Given the description of an element on the screen output the (x, y) to click on. 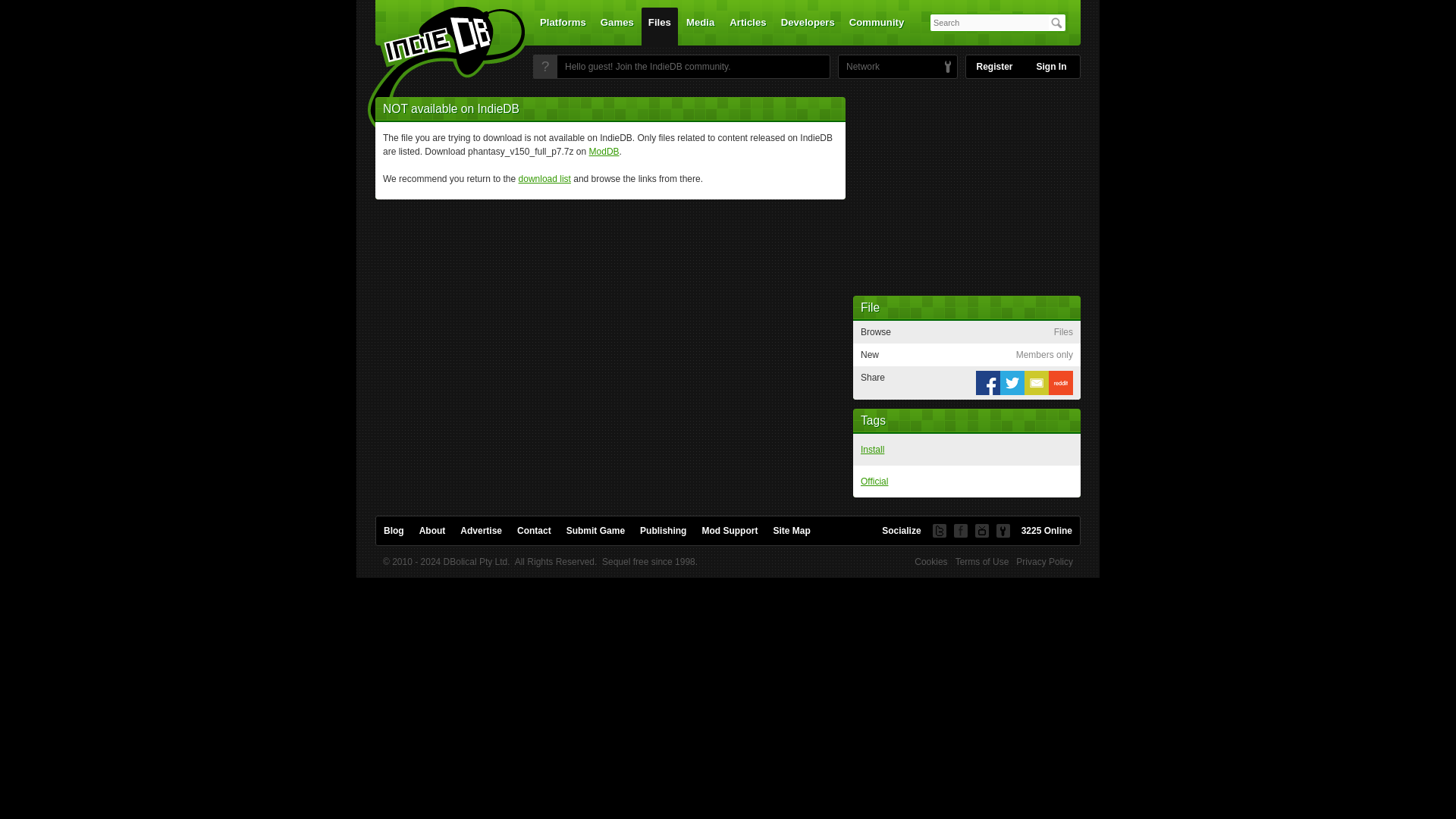
1 agree (1052, 480)
Email a friend (1036, 382)
Platforms (562, 26)
Media (700, 26)
Home (437, 70)
DBolical (858, 66)
Join IndieDB (545, 66)
Tweeeeeet! (1012, 382)
Search (1056, 22)
0 disagree (1066, 449)
